Given the description of an element on the screen output the (x, y) to click on. 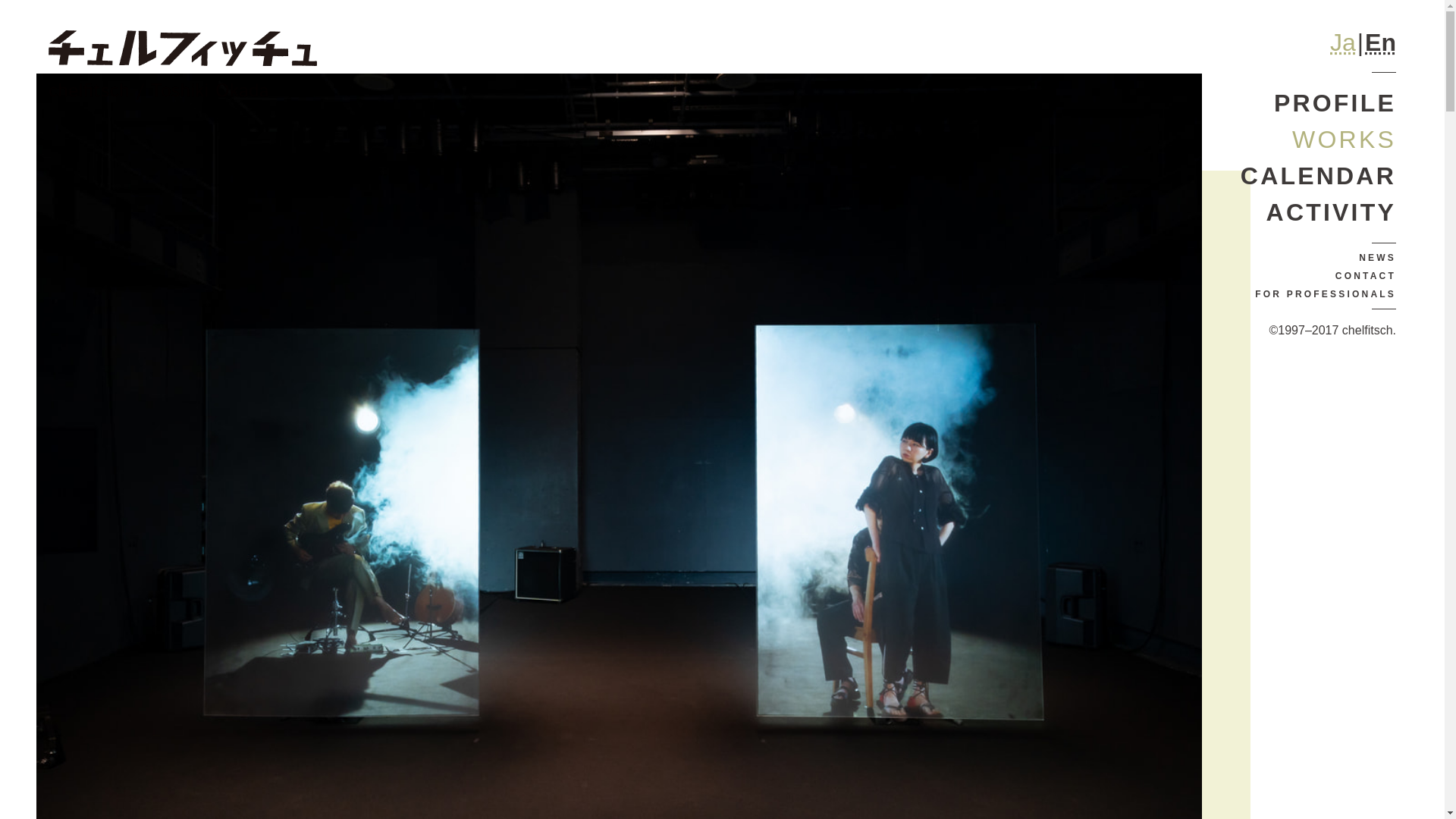
En (1380, 42)
ACTIVITY (1318, 212)
Ja (1342, 42)
CONTACT (1318, 275)
FOR PROFESSIONALS (1318, 294)
CALENDAR (1318, 176)
PROFILE (1318, 103)
WORKS (1318, 139)
English (1380, 42)
NEWS (1318, 257)
